Given the description of an element on the screen output the (x, y) to click on. 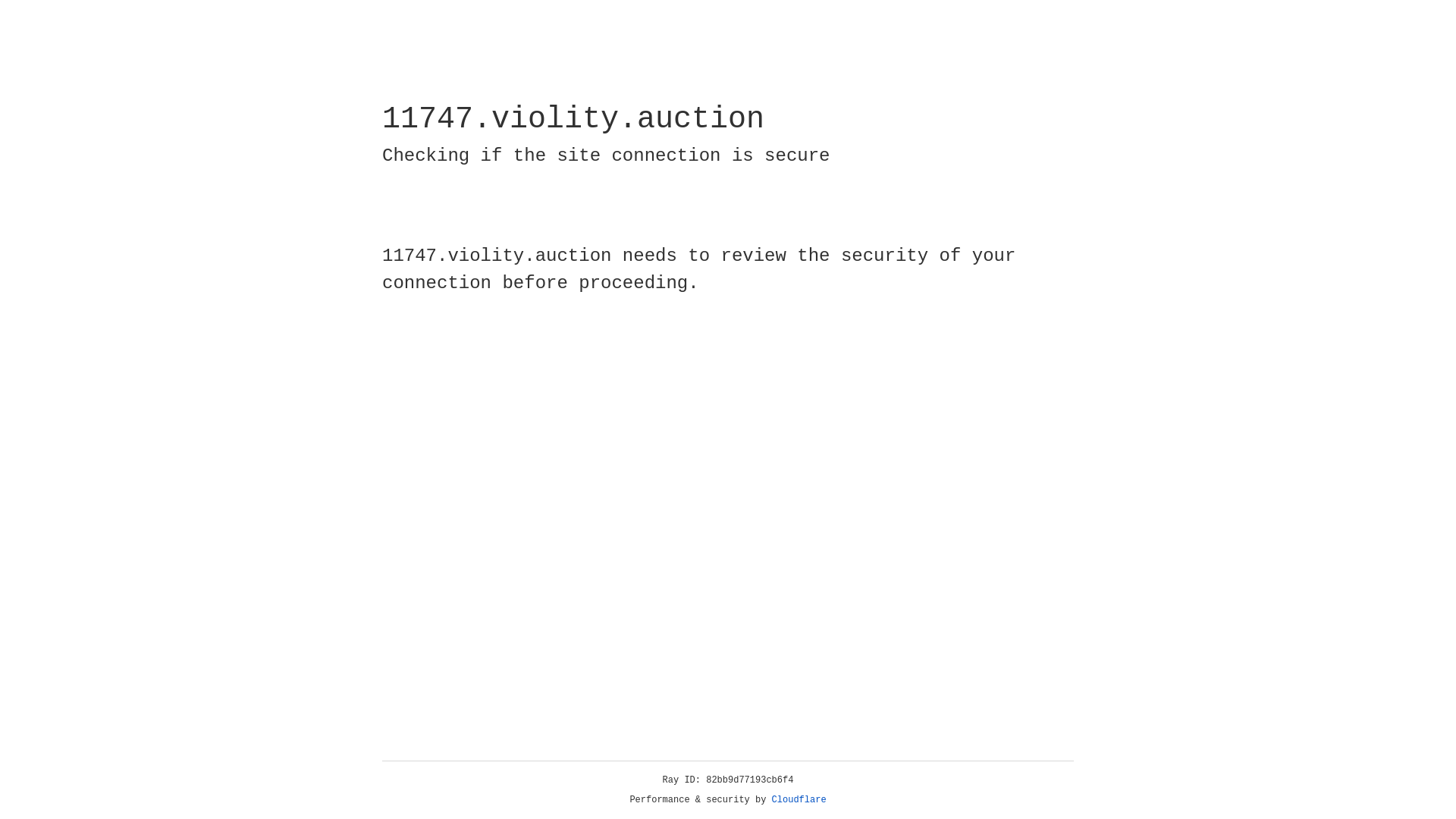
Cloudflare Element type: text (798, 799)
